Given the description of an element on the screen output the (x, y) to click on. 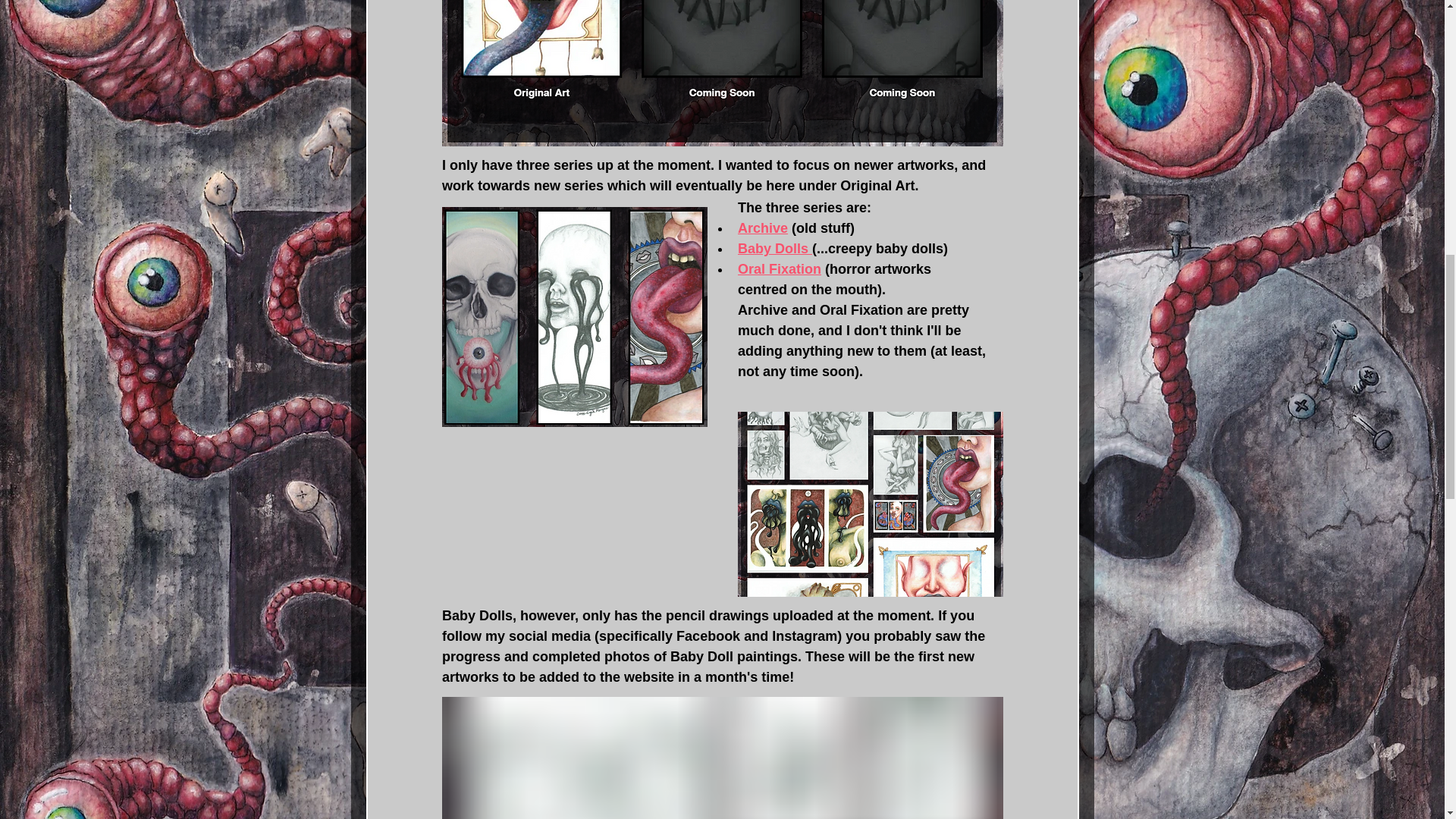
Oral Fixation (778, 268)
Baby Dolls  (773, 248)
Archive (761, 227)
